Given the description of an element on the screen output the (x, y) to click on. 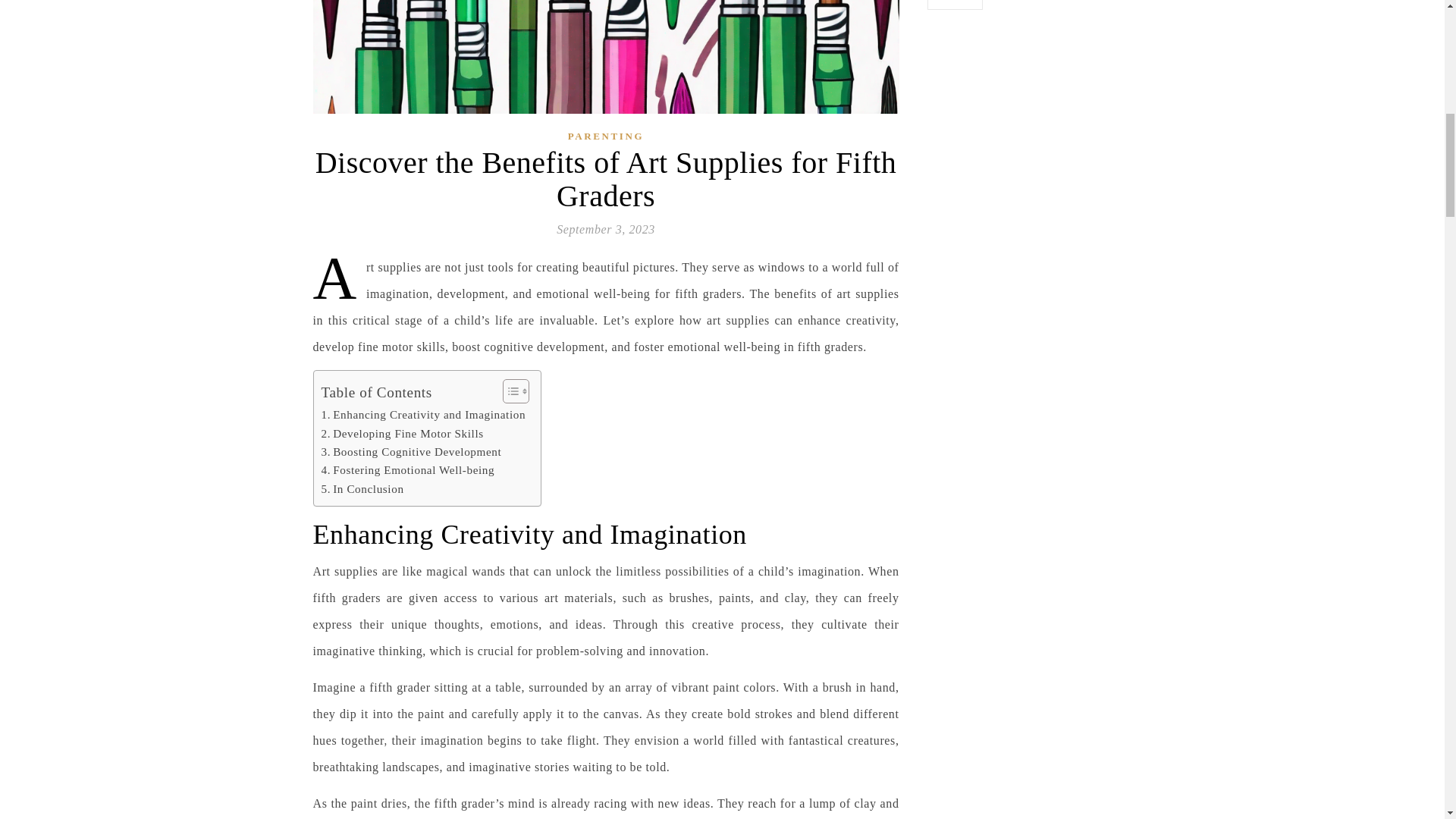
In Conclusion (362, 488)
Boosting Cognitive Development (411, 452)
Enhancing Creativity and Imagination (423, 414)
PARENTING (605, 135)
Boosting Cognitive Development (411, 452)
CORE (953, 4)
Developing Fine Motor Skills (402, 434)
Developing Fine Motor Skills (402, 434)
Fostering Emotional Well-being (408, 470)
Fostering Emotional Well-being (408, 470)
